Given the description of an element on the screen output the (x, y) to click on. 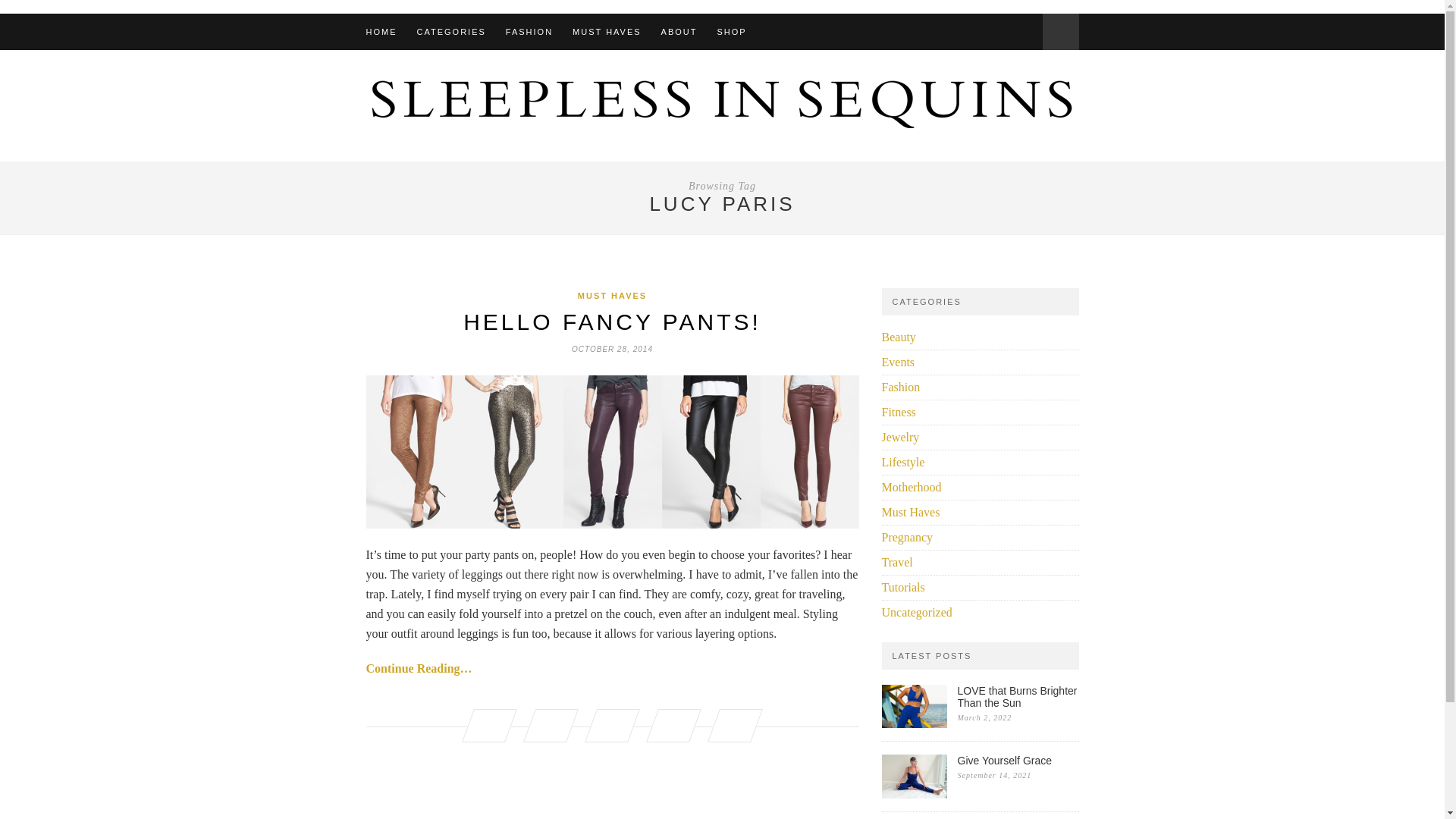
About (679, 31)
FASHION (529, 31)
Permanent Link: Give Yourself Grace (1017, 760)
Permanent Link: Give Yourself Grace (913, 793)
MUST HAVES (607, 31)
CATEGORIES (451, 31)
ABOUT (679, 31)
Permanent Link: LOVE that Burns Brighter Than the Sun (913, 723)
Permanent Link: LOVE that Burns Brighter Than the Sun (1017, 696)
View all posts in Must Haves (612, 295)
